Given the description of an element on the screen output the (x, y) to click on. 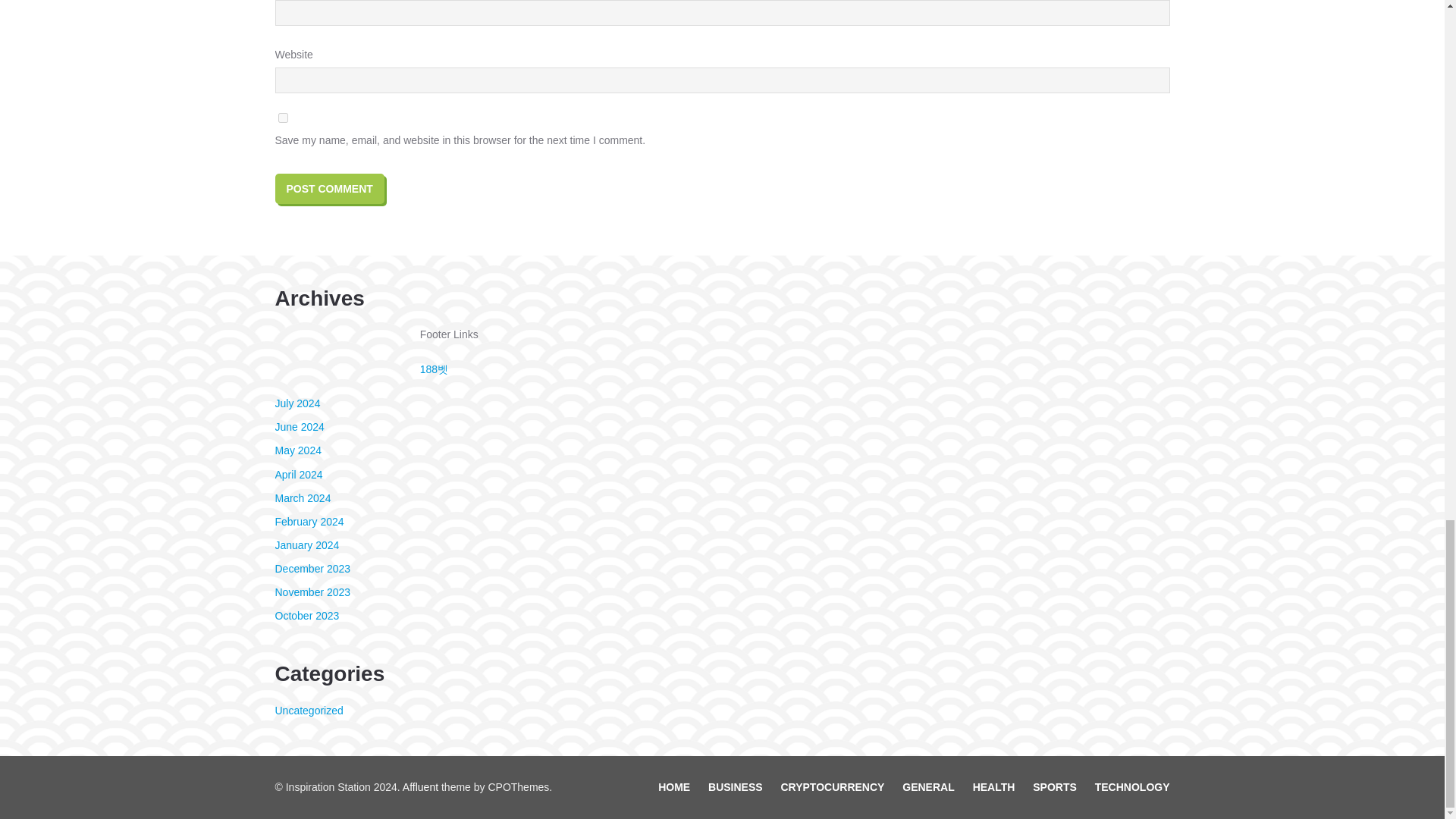
yes (282, 117)
December 2023 (312, 568)
June 2024 (299, 426)
Post Comment (329, 188)
April 2024 (298, 474)
January 2024 (307, 544)
July 2024 (297, 403)
February 2024 (309, 521)
May 2024 (297, 450)
March 2024 (302, 498)
Post Comment (329, 188)
